Given the description of an element on the screen output the (x, y) to click on. 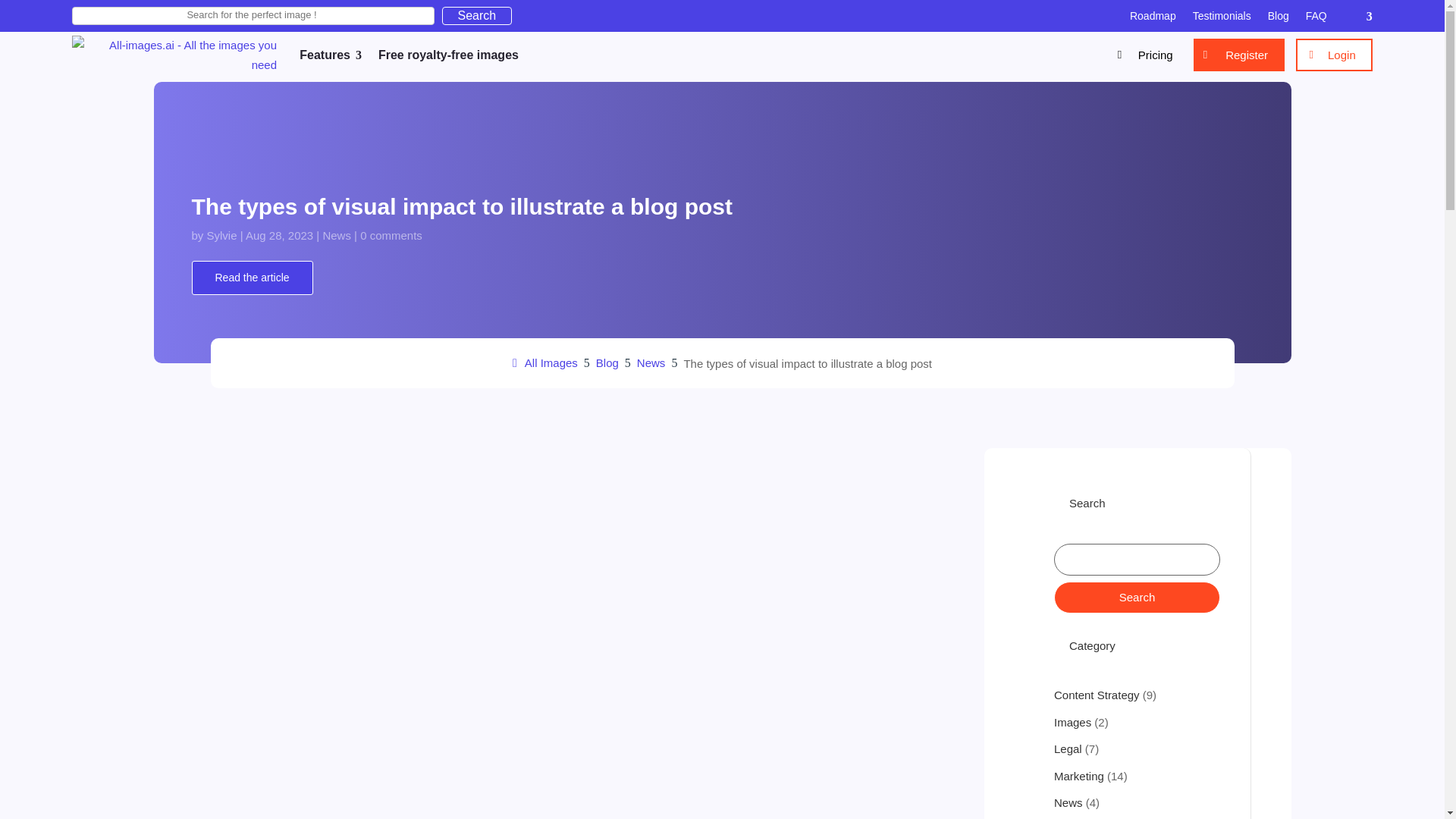
Posts by Sylvie (221, 235)
Register (1238, 55)
Search (477, 15)
Free royalty-free images (448, 54)
Login (1334, 55)
Search (1137, 597)
Roadmap (1152, 18)
Pricing (1147, 55)
Testimonials (1221, 18)
FAQ (1316, 18)
Features (324, 54)
Sylvie (221, 235)
Blog (1278, 18)
